Given the description of an element on the screen output the (x, y) to click on. 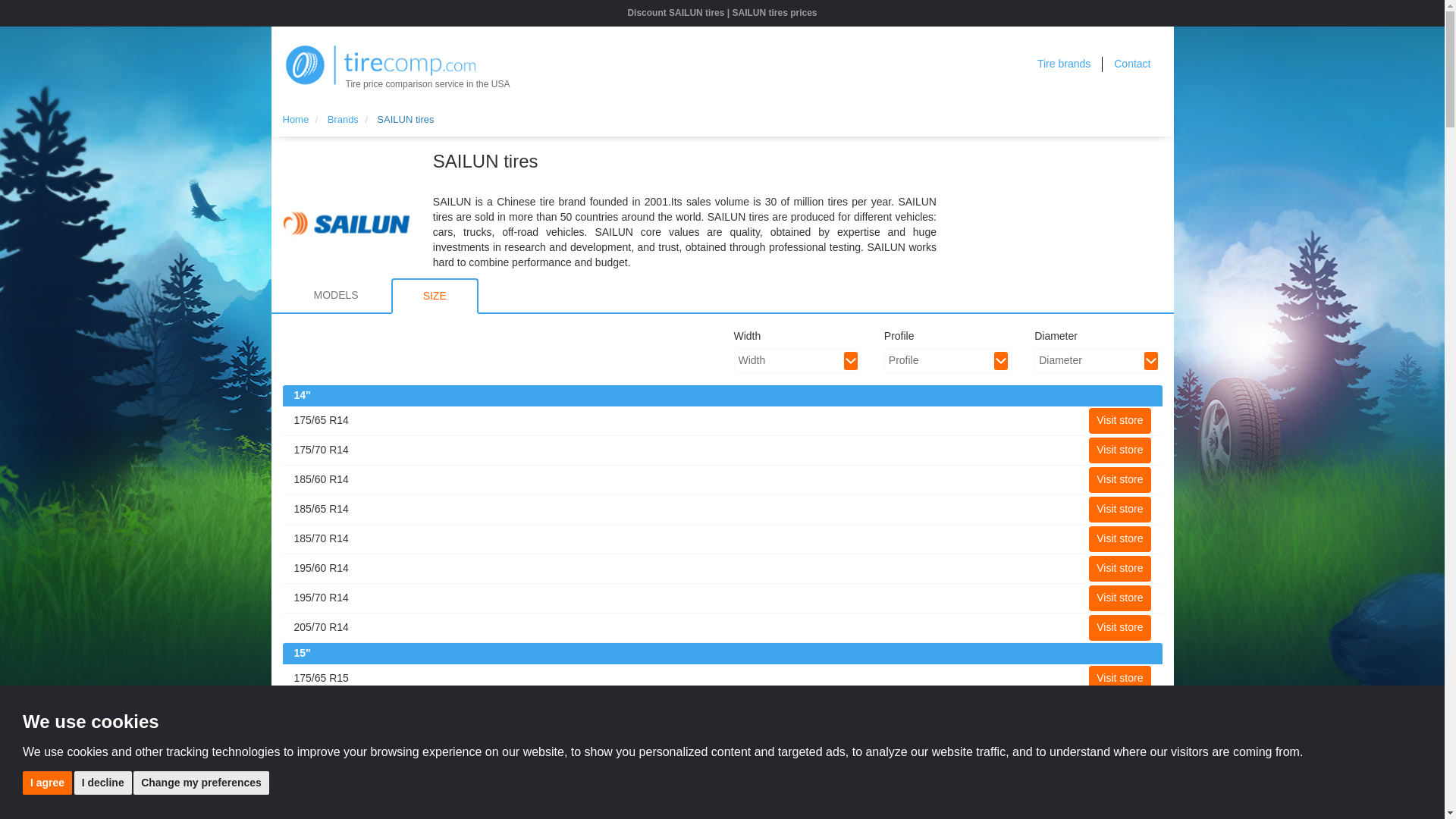
Contact (1131, 63)
Brands (342, 119)
Tire brands (1063, 63)
Visit store (1119, 737)
Visit store (1119, 479)
SAILUN tires (405, 119)
Visit store (1119, 509)
I agree (47, 781)
Visit store (1119, 597)
Visit store (1119, 767)
